Given the description of an element on the screen output the (x, y) to click on. 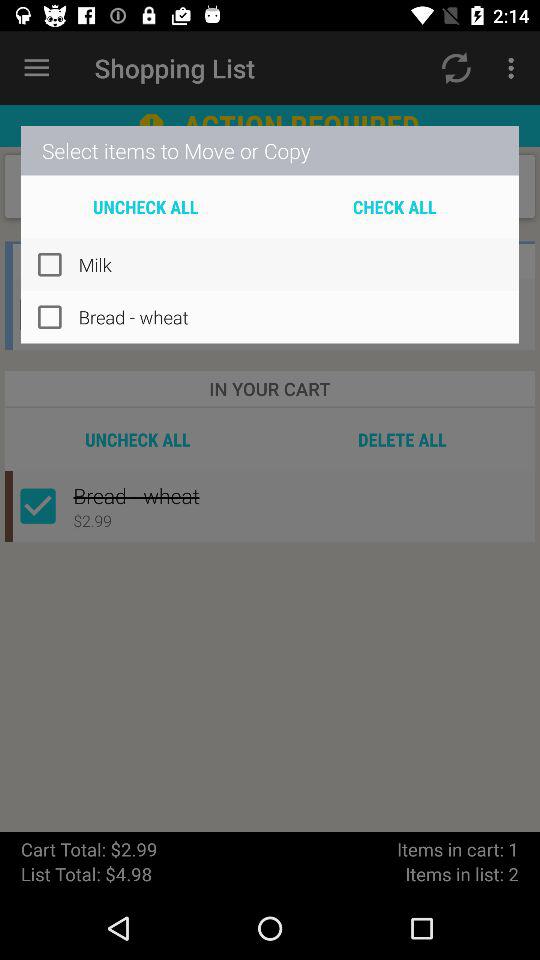
jump until select items to icon (270, 150)
